Given the description of an element on the screen output the (x, y) to click on. 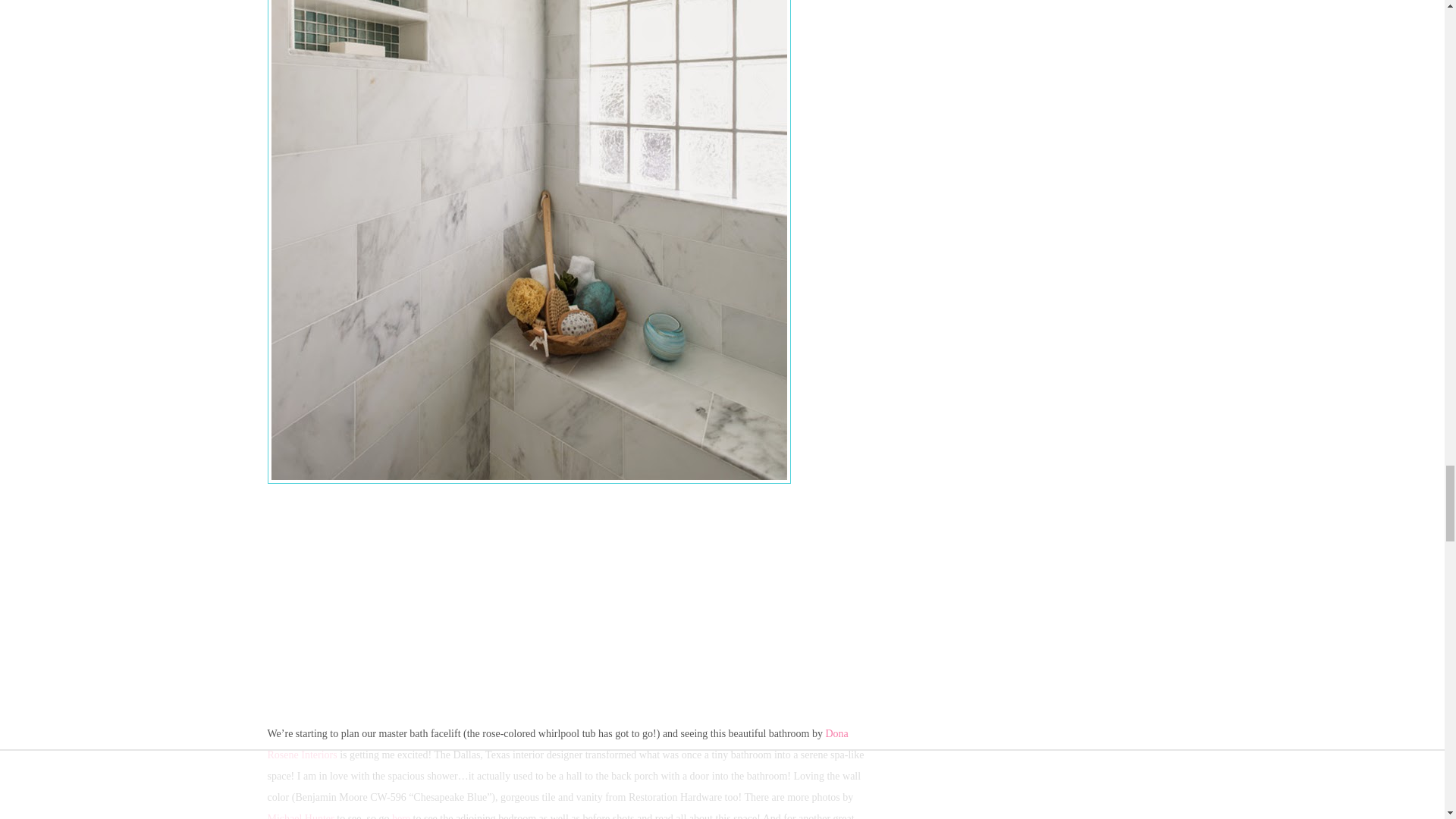
Dona Rosene Interiors (556, 744)
Michael Hunter (299, 816)
here (400, 816)
